Given the description of an element on the screen output the (x, y) to click on. 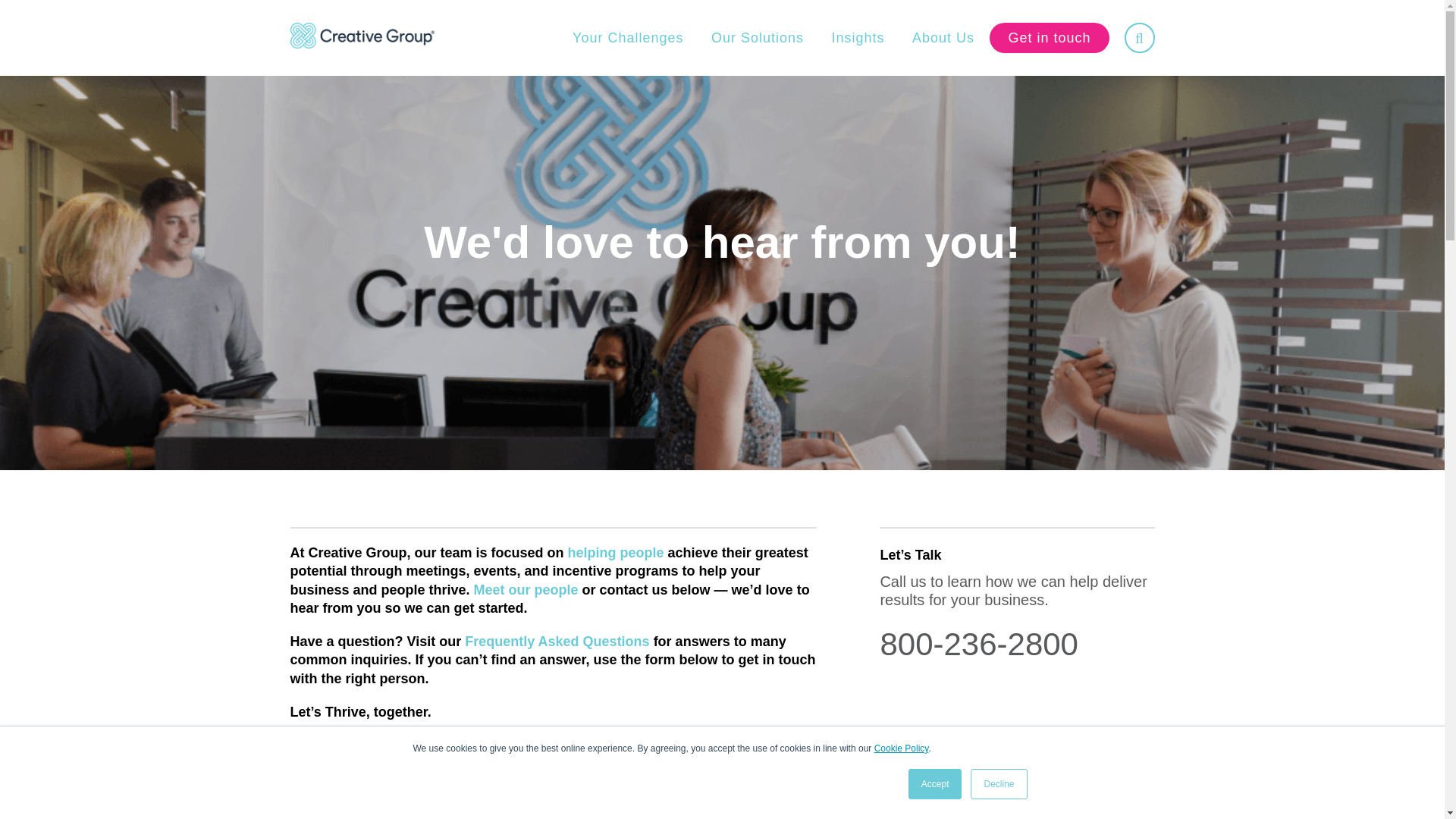
Cookie Policy (901, 747)
Accept (935, 784)
Decline (998, 784)
Form 0 (552, 800)
